Given the description of an element on the screen output the (x, y) to click on. 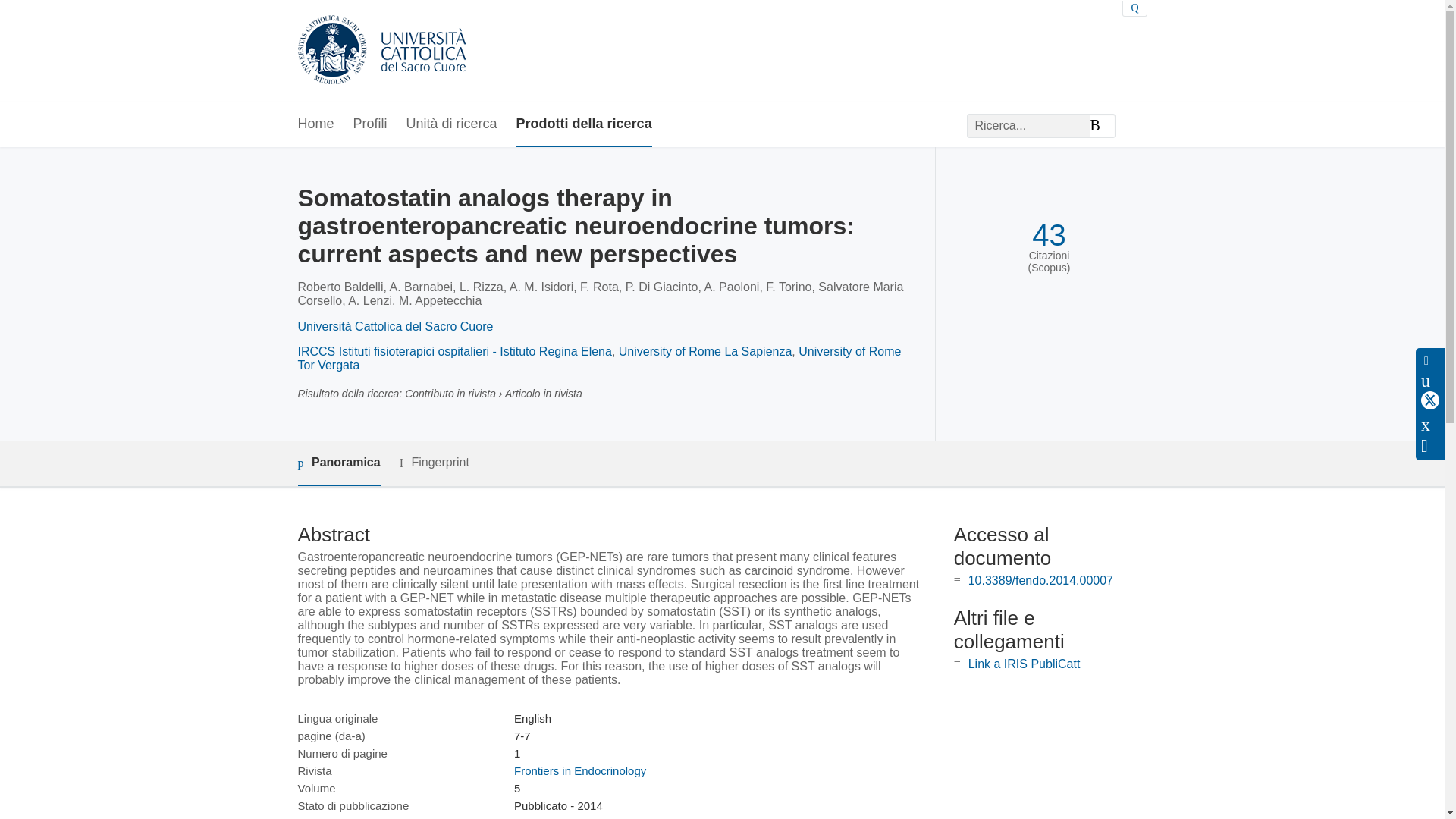
PubliRES - Publications, Research, Expertise and Skills Home (380, 50)
Fingerprint (433, 462)
University of Rome La Sapienza (705, 350)
Panoramica (338, 463)
Link a IRIS PubliCatt (1024, 663)
Prodotti della ricerca (584, 124)
University of Rome Tor Vergata (599, 357)
43 (1048, 234)
